Given the description of an element on the screen output the (x, y) to click on. 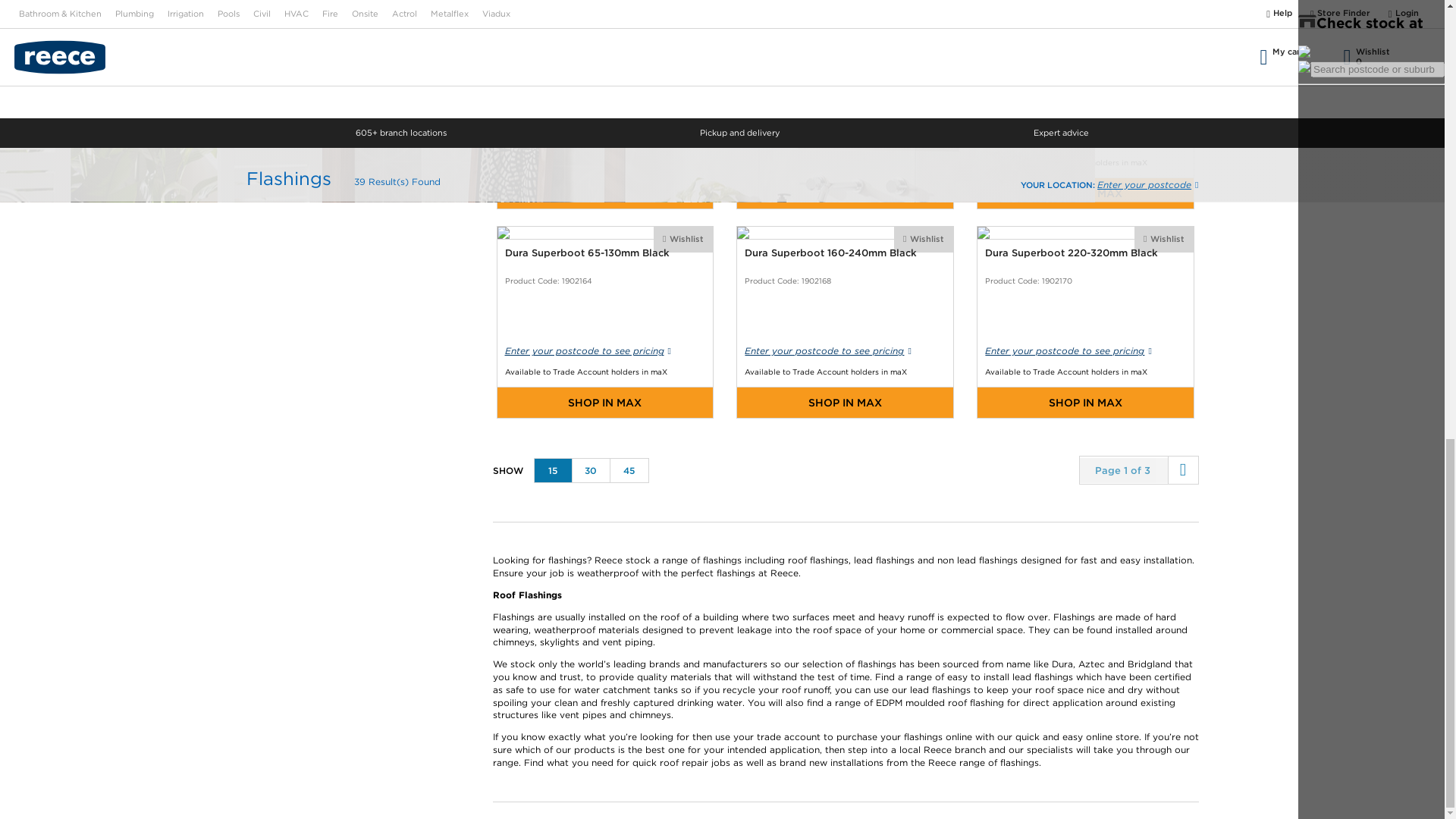
Acryflash 300mm x 15kg x 3mtr (1084, 112)
Dura Superboot 65-130mm Black (604, 322)
Dura Superboot 220-320mm Black (1084, 322)
Dura Superboot 100-170mm Black (604, 112)
Dura Boot Roof Flashing 121-254mm EPDM (844, 112)
Dura Superboot 160-240mm Black (844, 322)
